Given the description of an element on the screen output the (x, y) to click on. 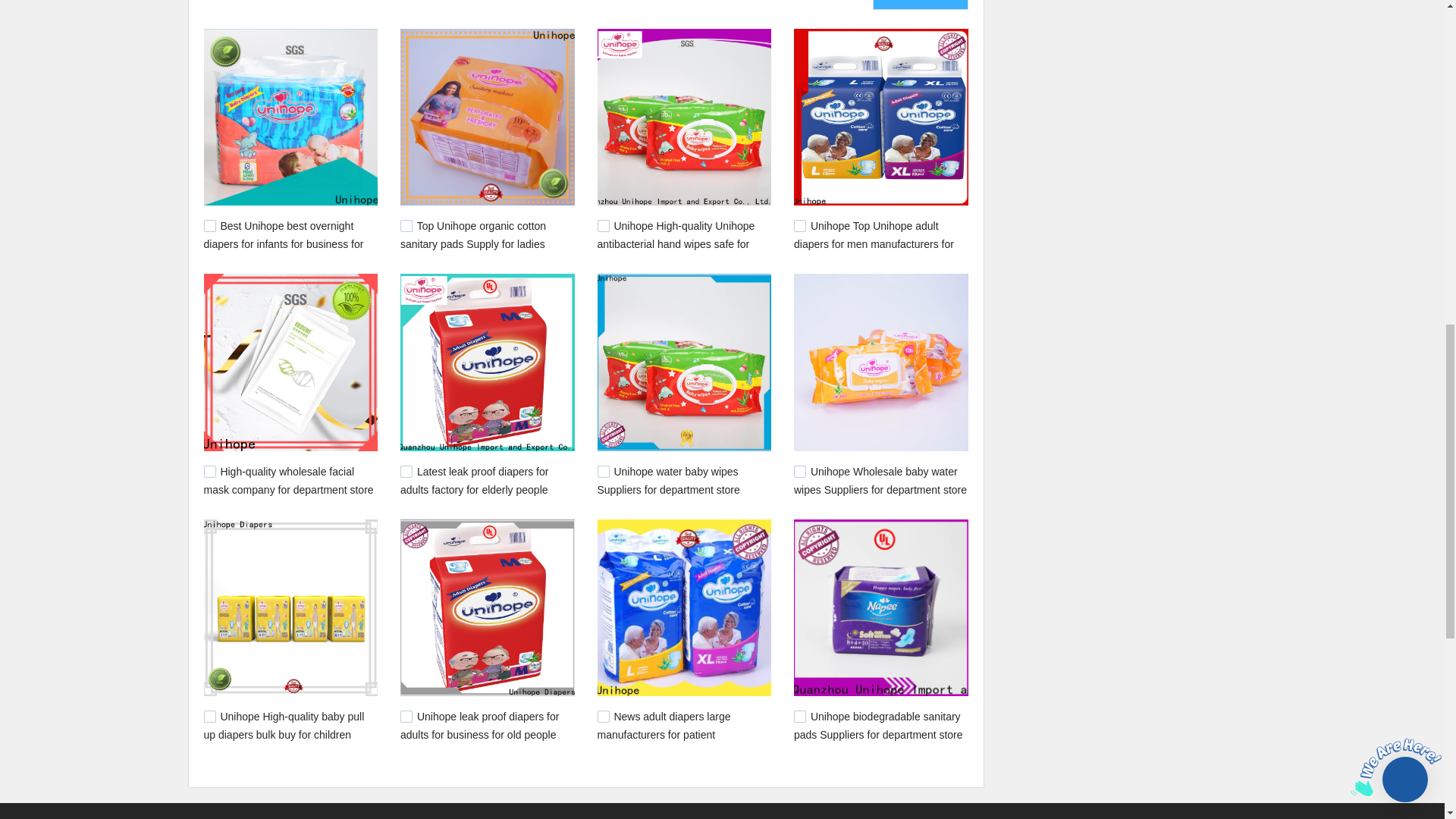
1366 (799, 225)
3042 (209, 225)
1112 (799, 471)
1160 (209, 471)
807 (799, 716)
858 (603, 716)
1368 (603, 225)
1148 (603, 471)
